Given the description of an element on the screen output the (x, y) to click on. 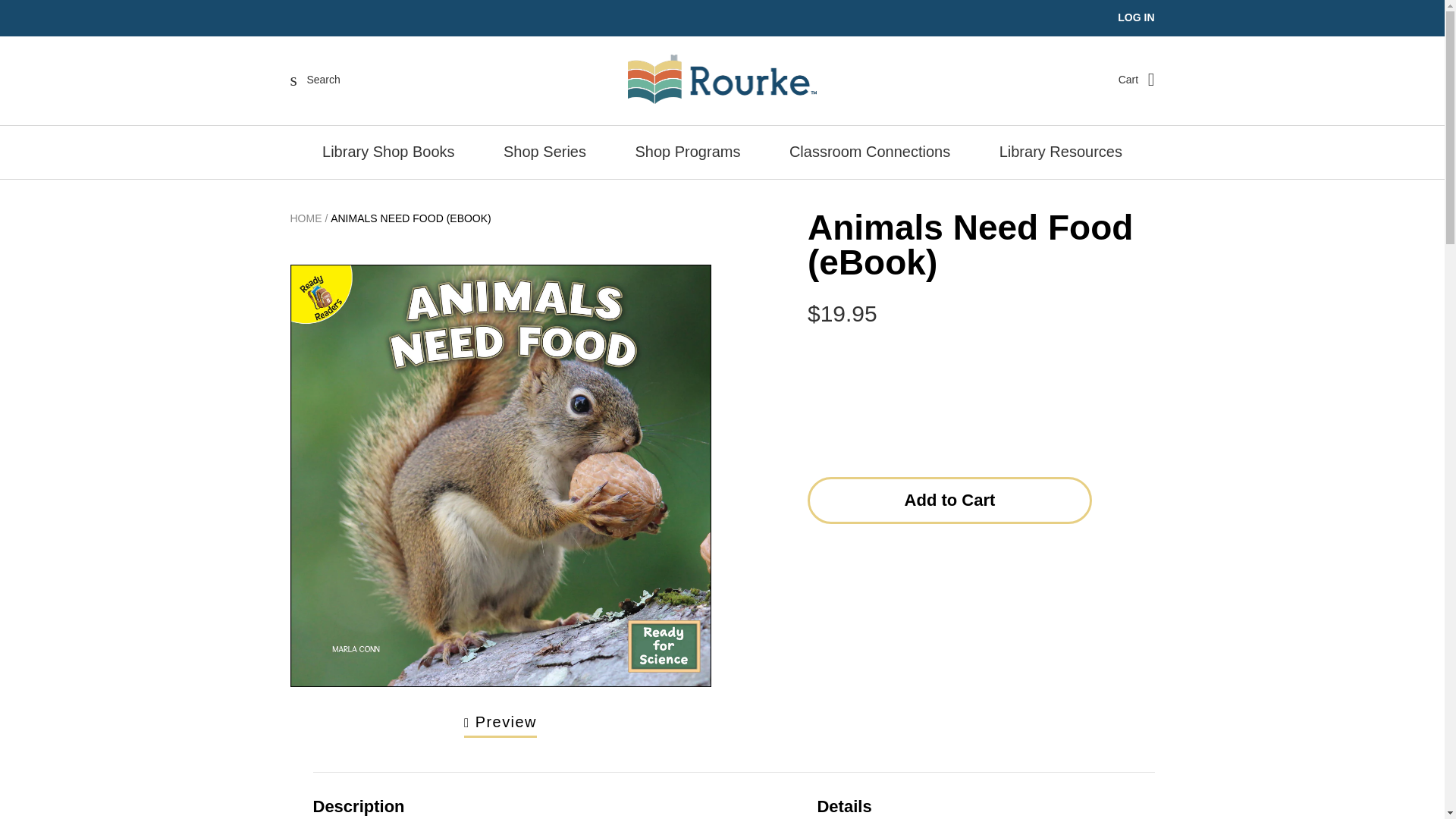
LOG IN (1136, 17)
Back to the frontpage (305, 217)
Search (315, 78)
